Given the description of an element on the screen output the (x, y) to click on. 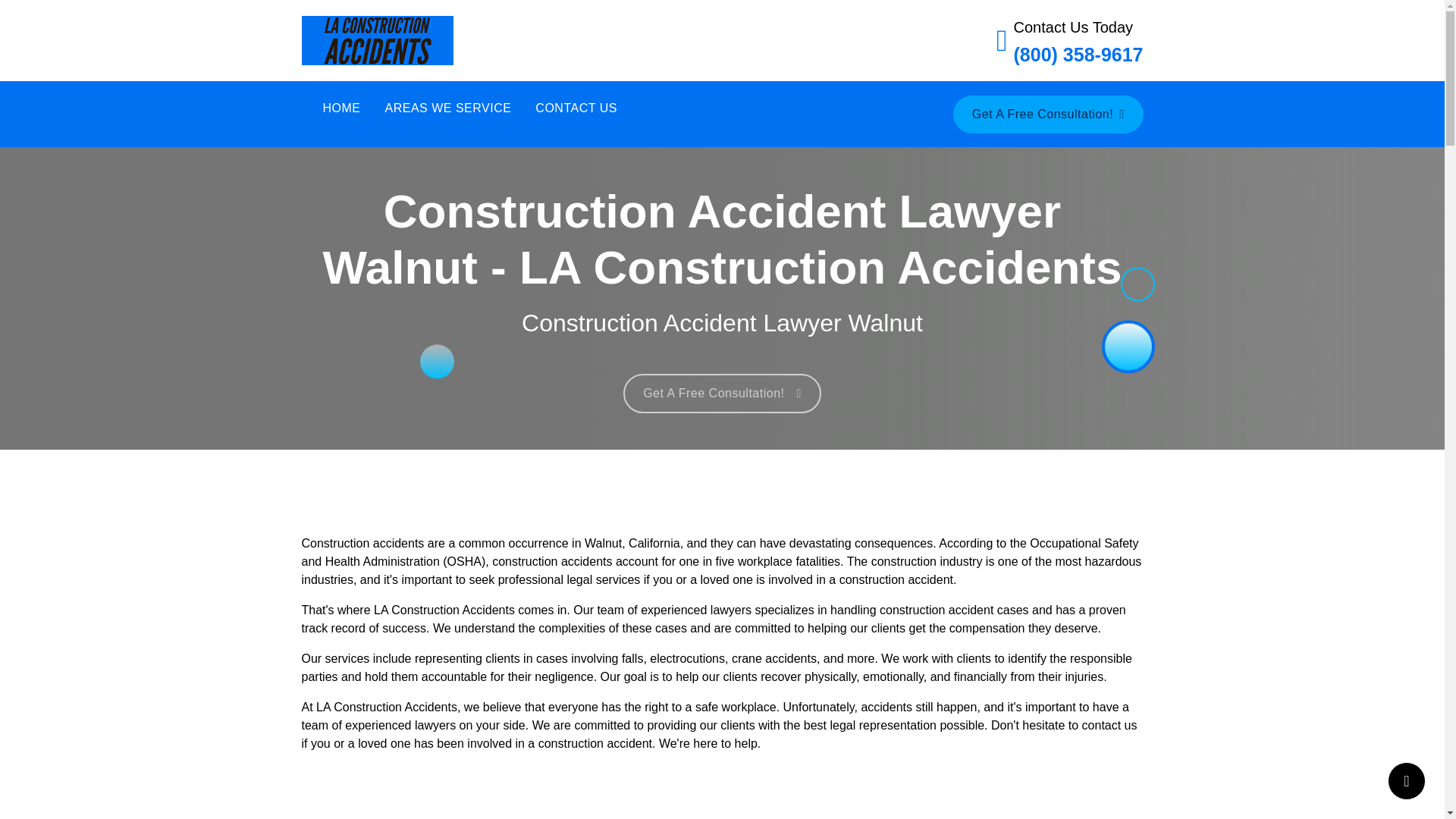
Get A Free Consultation! (1047, 114)
Get A Free Consultation! (722, 393)
AREAS WE SERVICE (448, 108)
CONTACT US (576, 108)
HOME (341, 108)
